Given the description of an element on the screen output the (x, y) to click on. 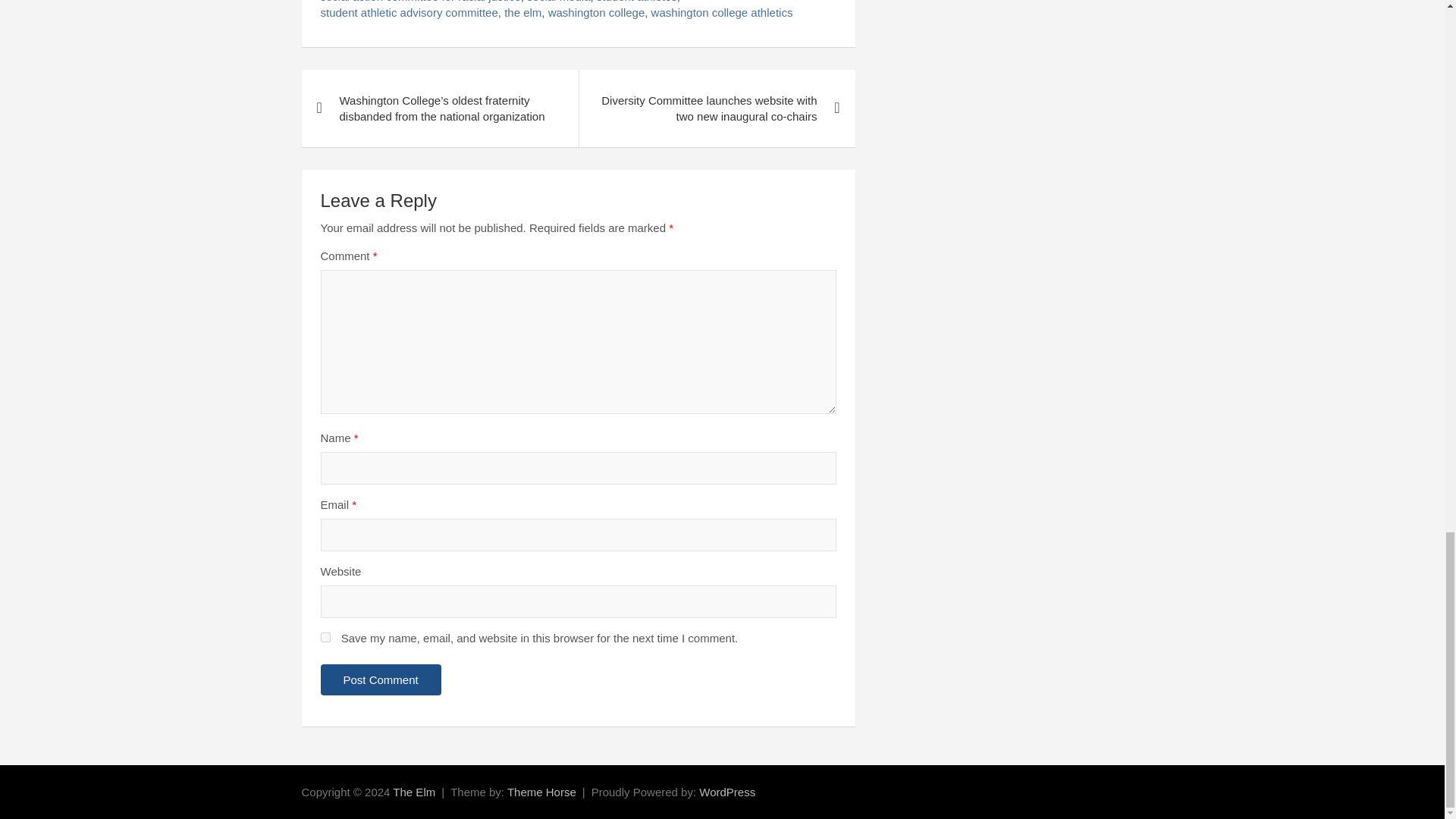
Post Comment (380, 679)
social media (558, 2)
Theme Horse (541, 791)
student athletic advisory committee (408, 12)
yes (325, 637)
the elm (522, 12)
student athletes (636, 2)
social action committee for racial justice (419, 2)
washington college athletics (721, 12)
The Elm (414, 791)
Post Comment (380, 679)
WordPress (726, 791)
washington college (596, 12)
